Given the description of an element on the screen output the (x, y) to click on. 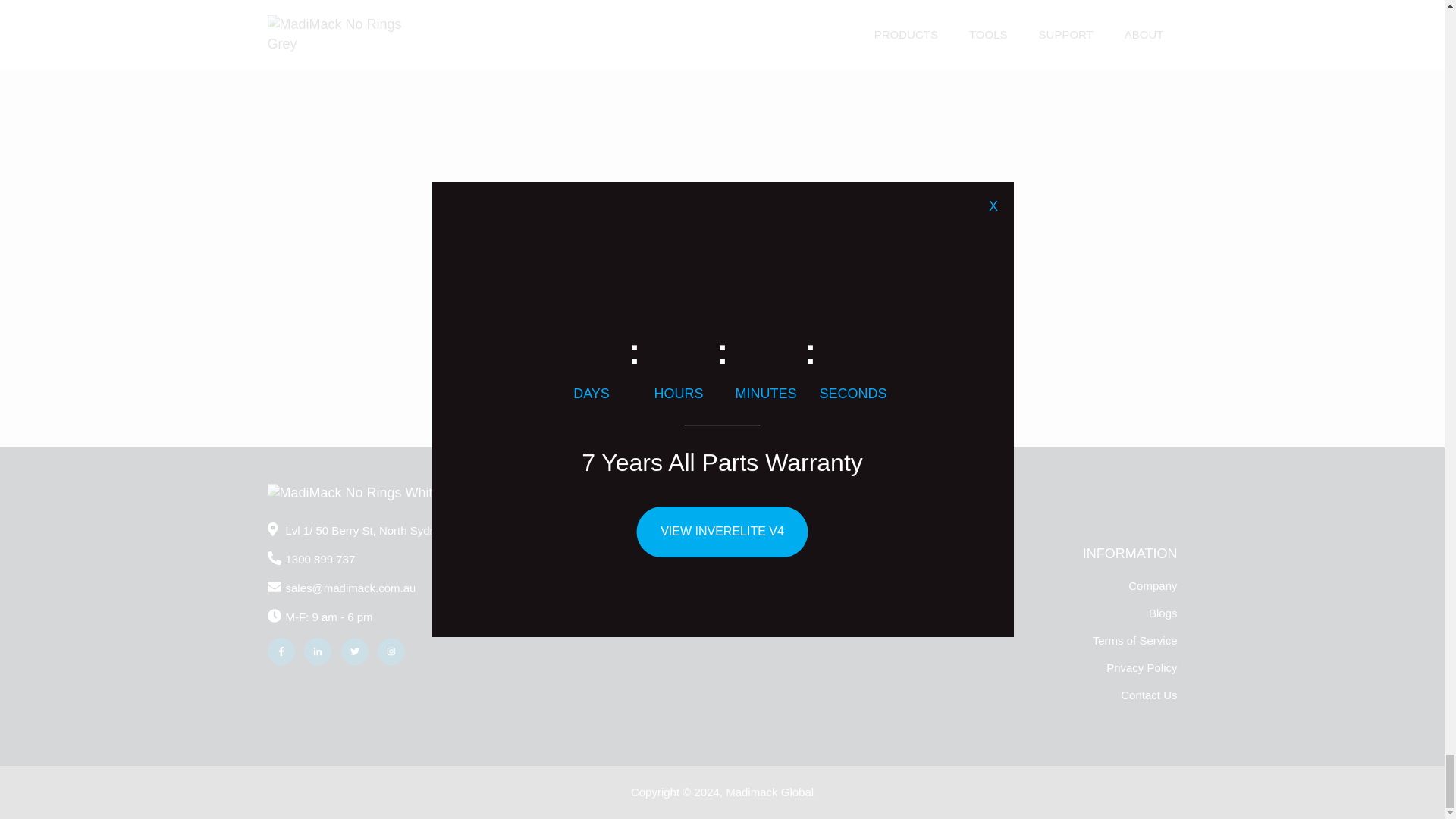
MadiMack No Rings White (352, 493)
